Given the description of an element on the screen output the (x, y) to click on. 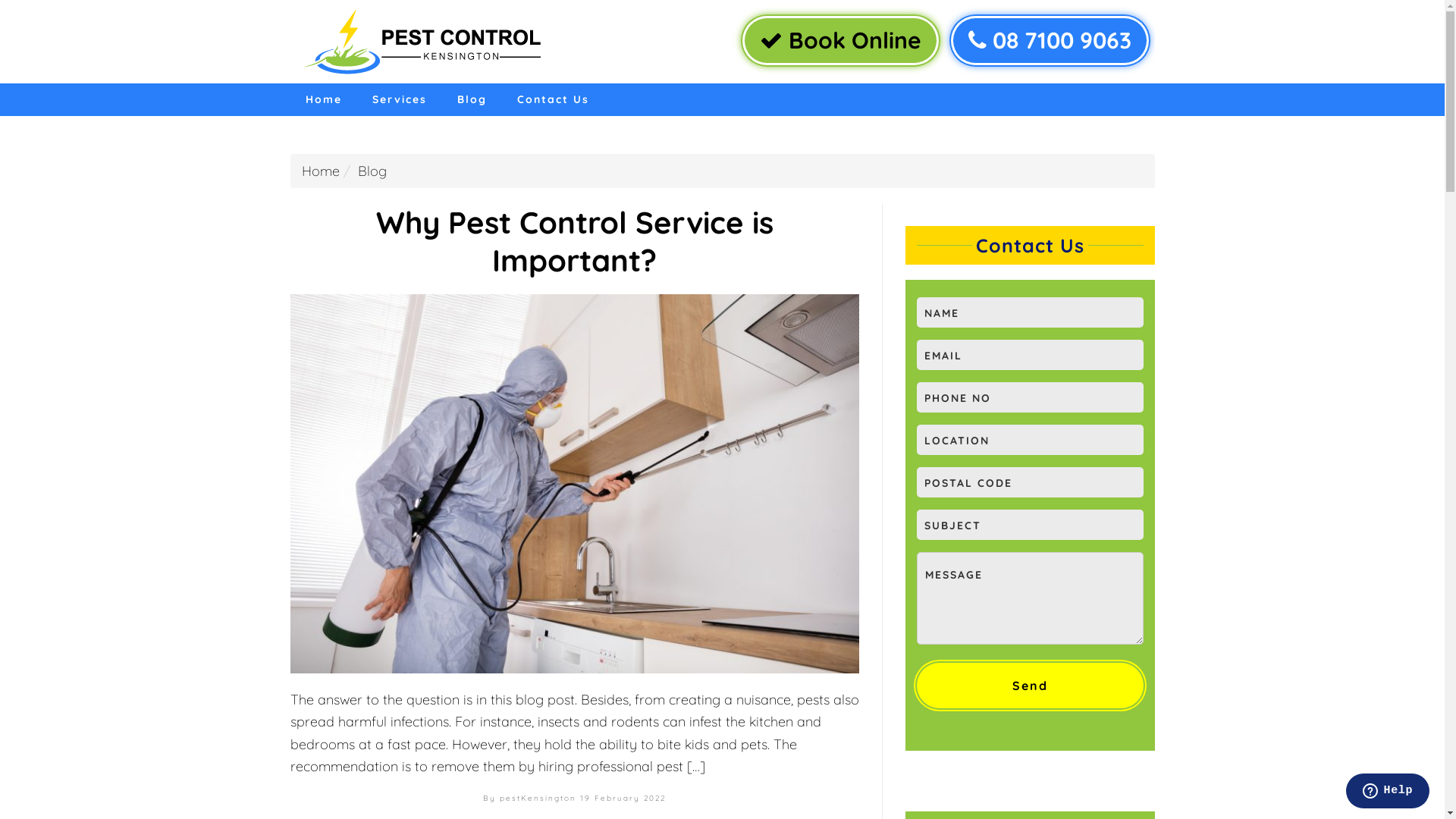
Send Element type: text (1029, 685)
Blog Element type: text (371, 170)
Blog Element type: text (471, 99)
Why Pest Control Service is Important? Element type: text (574, 241)
Home Element type: text (320, 170)
Home Element type: text (322, 99)
08 7100 9063 Element type: text (1049, 40)
Book Online Element type: text (839, 40)
Opens a widget where you can chat to one of our agents Element type: hover (1387, 792)
Services Element type: text (398, 99)
Contact Us Element type: text (553, 99)
